Given the description of an element on the screen output the (x, y) to click on. 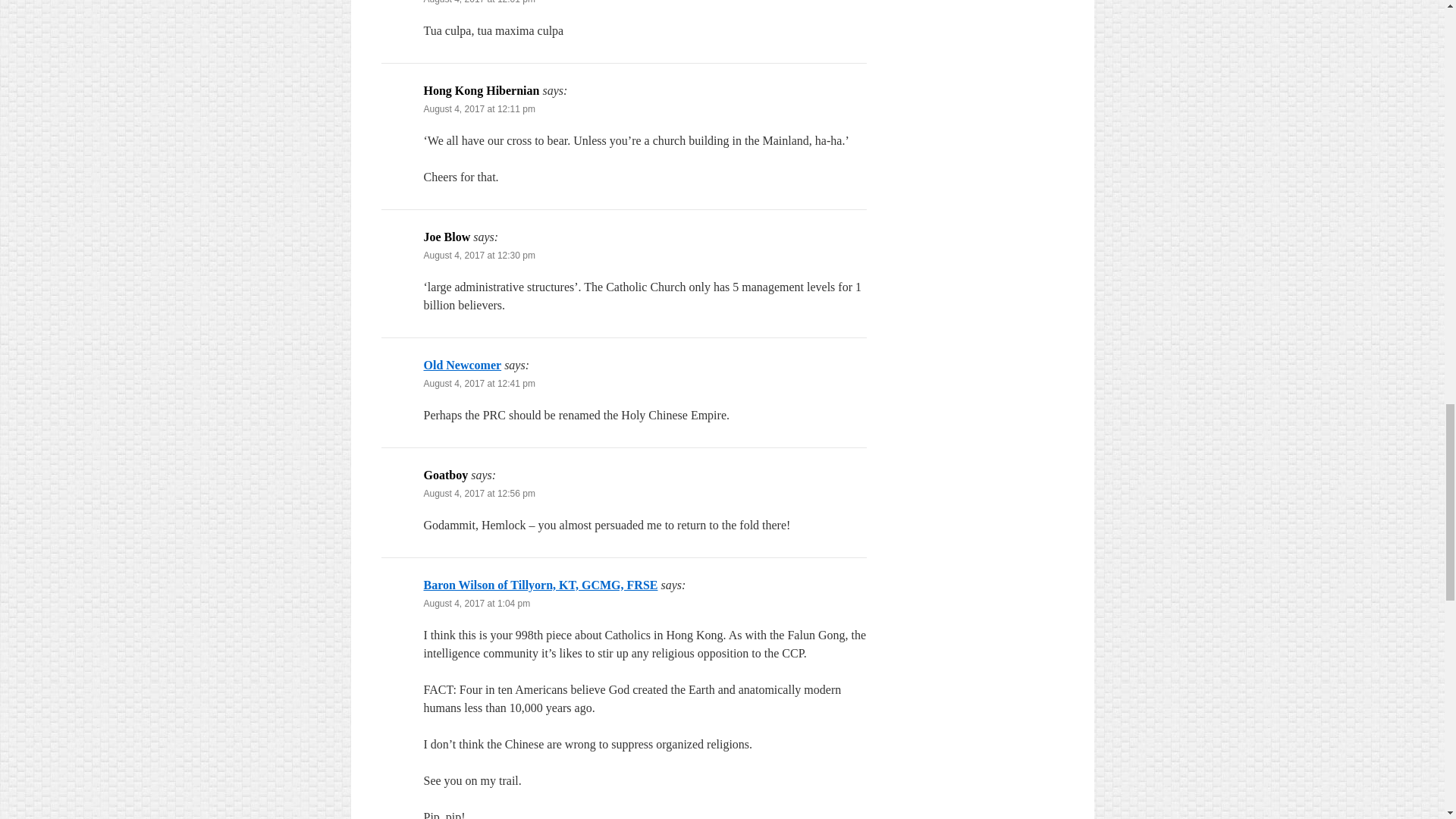
Old Newcomer (461, 364)
Baron Wilson of Tillyorn, KT, GCMG, FRSE (540, 584)
August 4, 2017 at 12:41 pm (478, 383)
August 4, 2017 at 12:01 pm (478, 2)
August 4, 2017 at 12:11 pm (478, 109)
August 4, 2017 at 12:30 pm (478, 255)
August 4, 2017 at 1:04 pm (476, 603)
August 4, 2017 at 12:56 pm (478, 493)
